Given the description of an element on the screen output the (x, y) to click on. 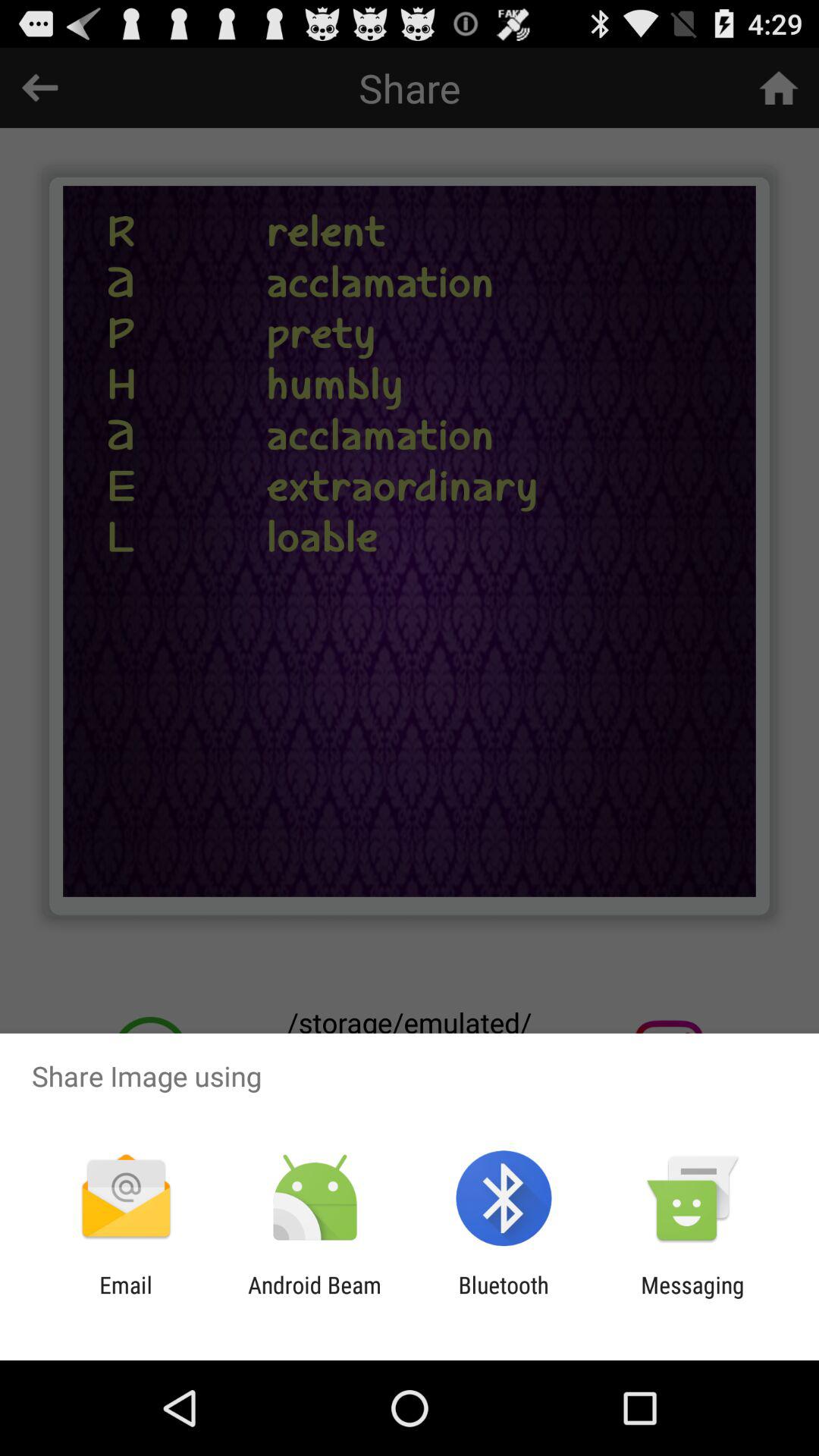
select the messaging icon (692, 1298)
